Given the description of an element on the screen output the (x, y) to click on. 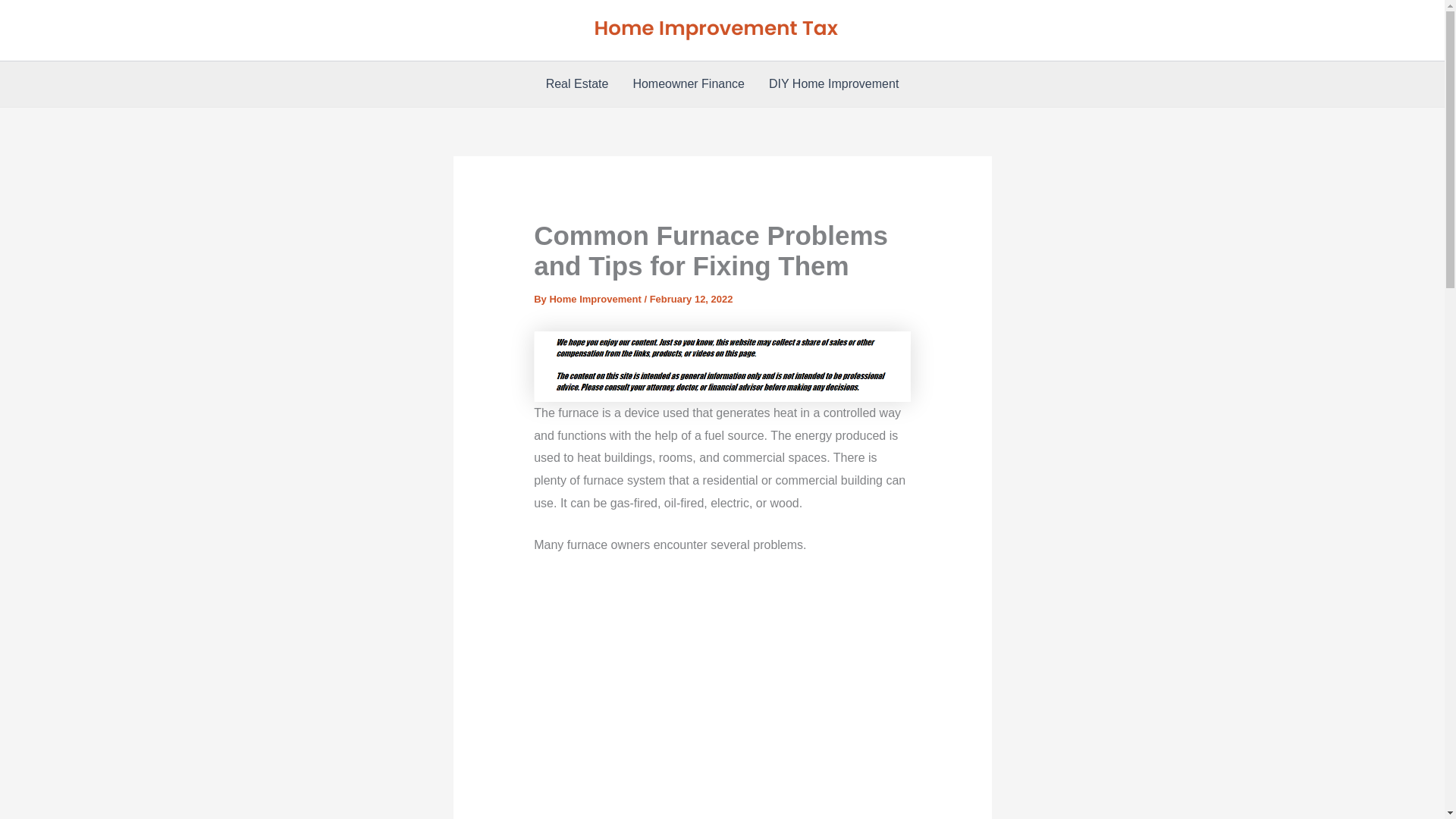
View all posts by Home Improvement (595, 298)
Homeowner Finance (688, 84)
Home Improvement (595, 298)
Real Estate (577, 84)
DIY Home Improvement (834, 84)
